Given the description of an element on the screen output the (x, y) to click on. 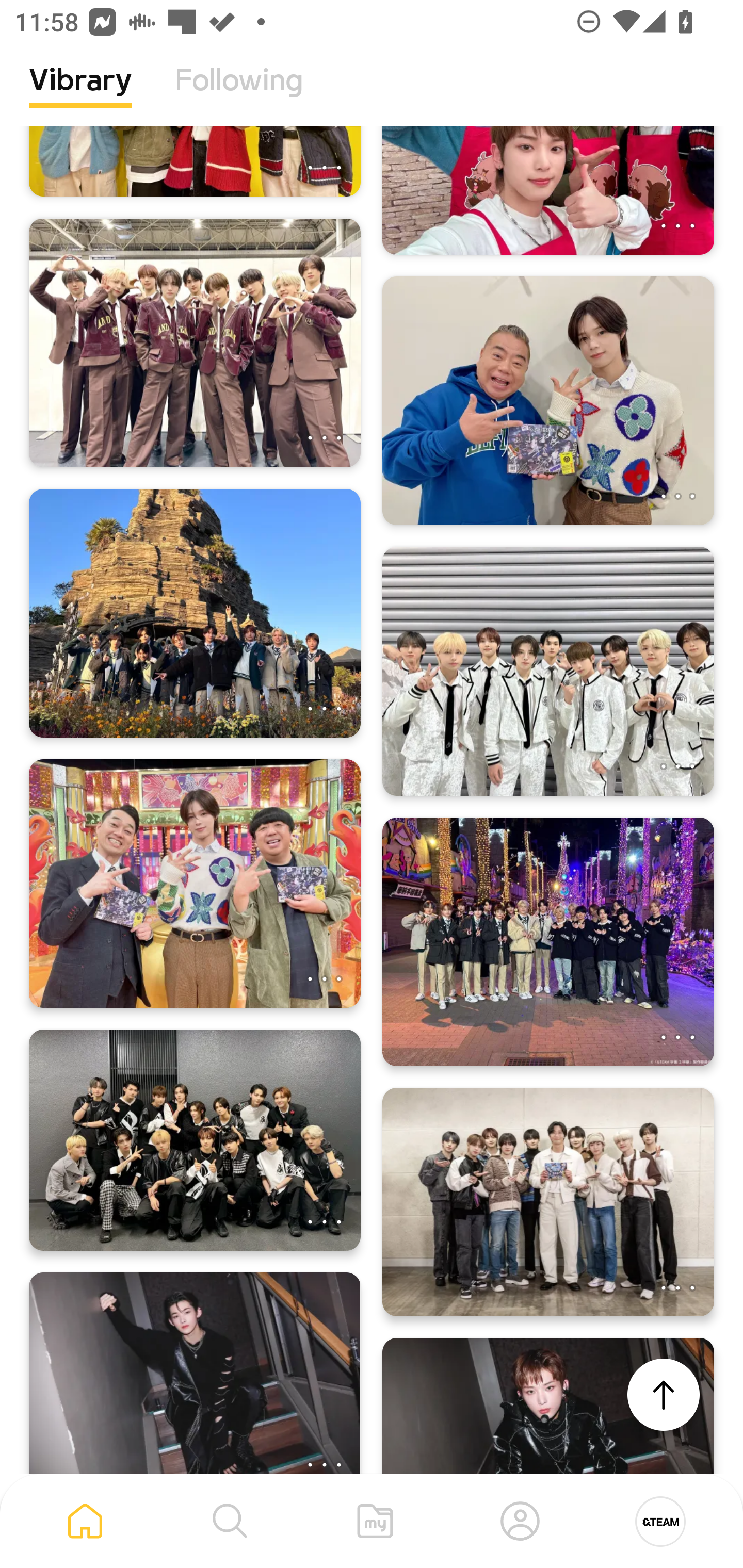
Vibrary (80, 95)
Following (239, 95)
